Given the description of an element on the screen output the (x, y) to click on. 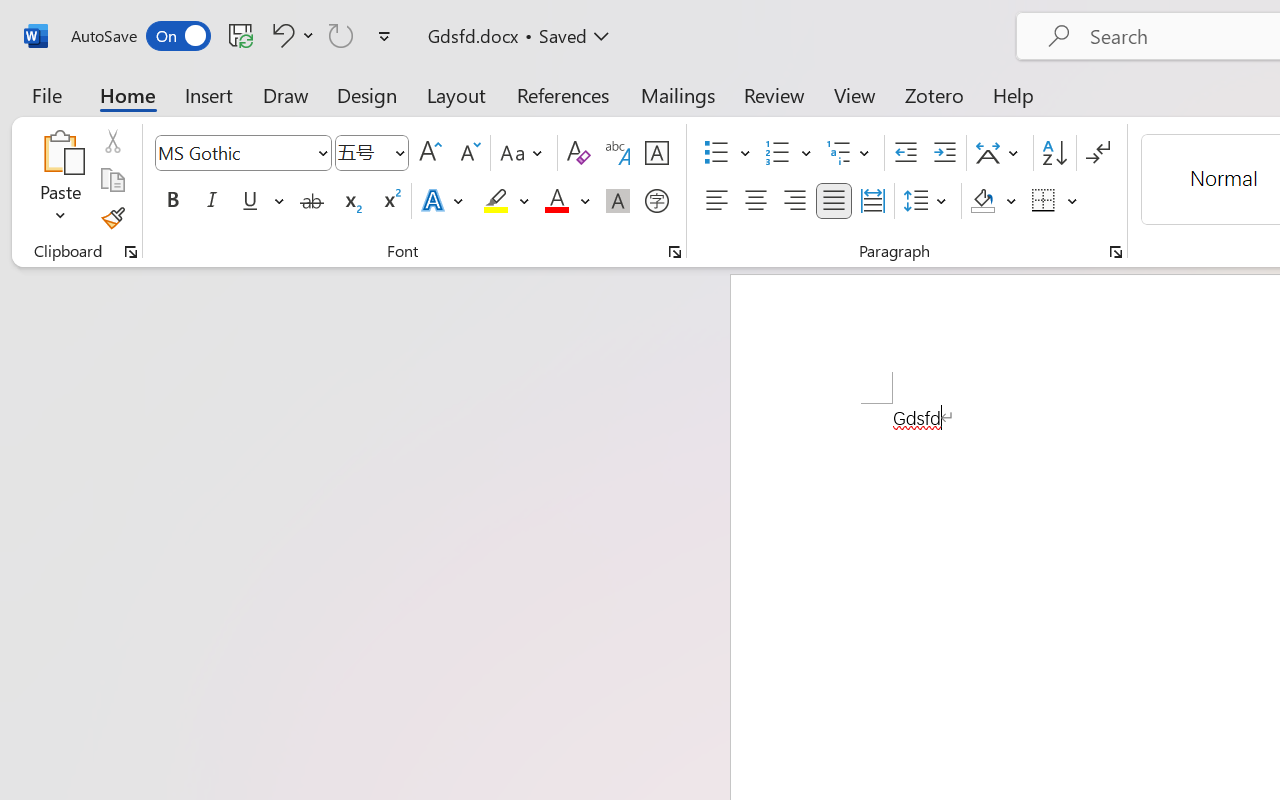
Show/Hide Editing Marks (1098, 153)
Sort... (1054, 153)
Undo Font Formatting (290, 35)
Shading (993, 201)
